Given the description of an element on the screen output the (x, y) to click on. 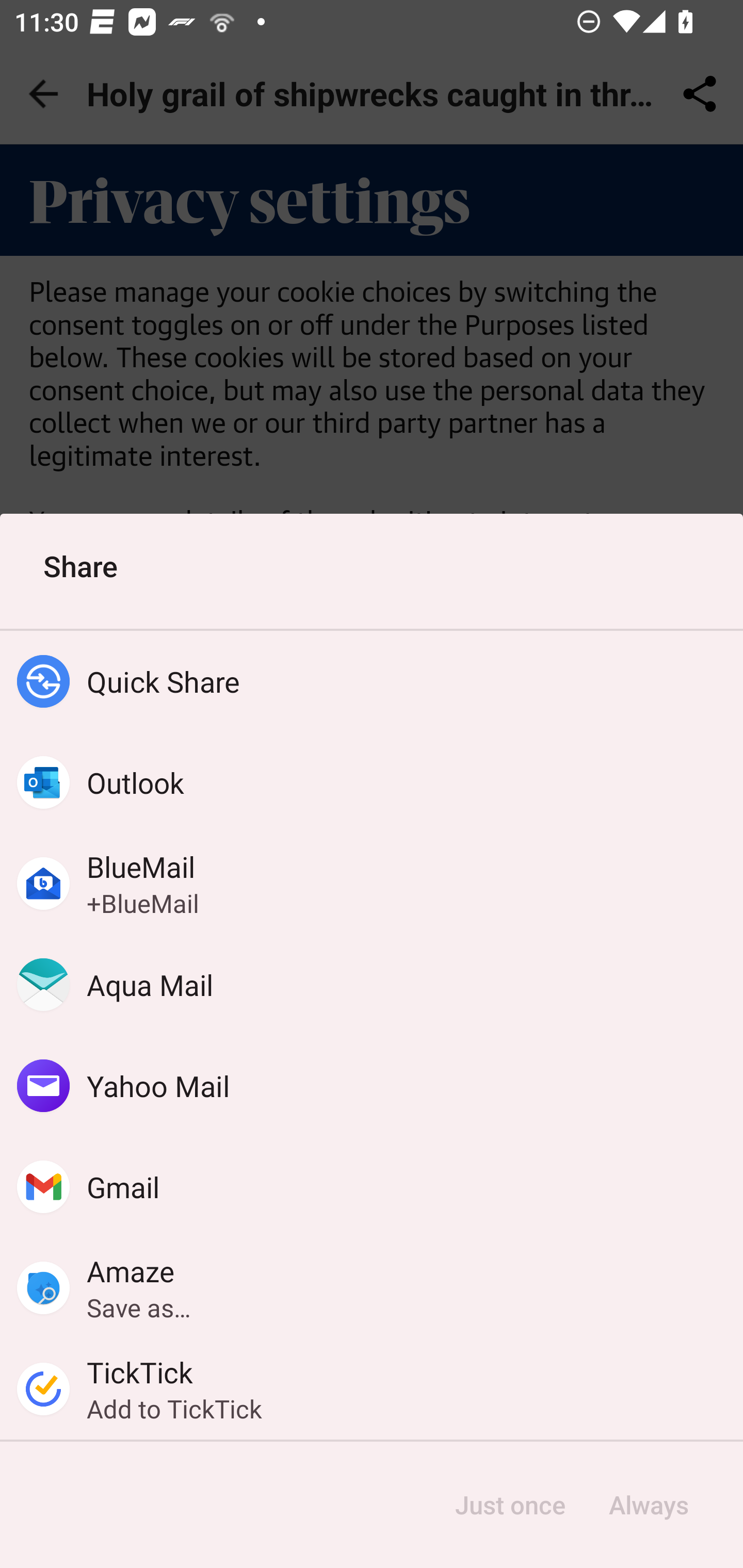
Quick Share (371, 681)
Outlook (371, 782)
BlueMail +BlueMail (371, 883)
Aqua Mail (371, 984)
Yahoo Mail (371, 1085)
Gmail (371, 1186)
Amaze Save as… (371, 1288)
TickTick Add to TickTick (371, 1389)
Just once (509, 1504)
Always (648, 1504)
